Given the description of an element on the screen output the (x, y) to click on. 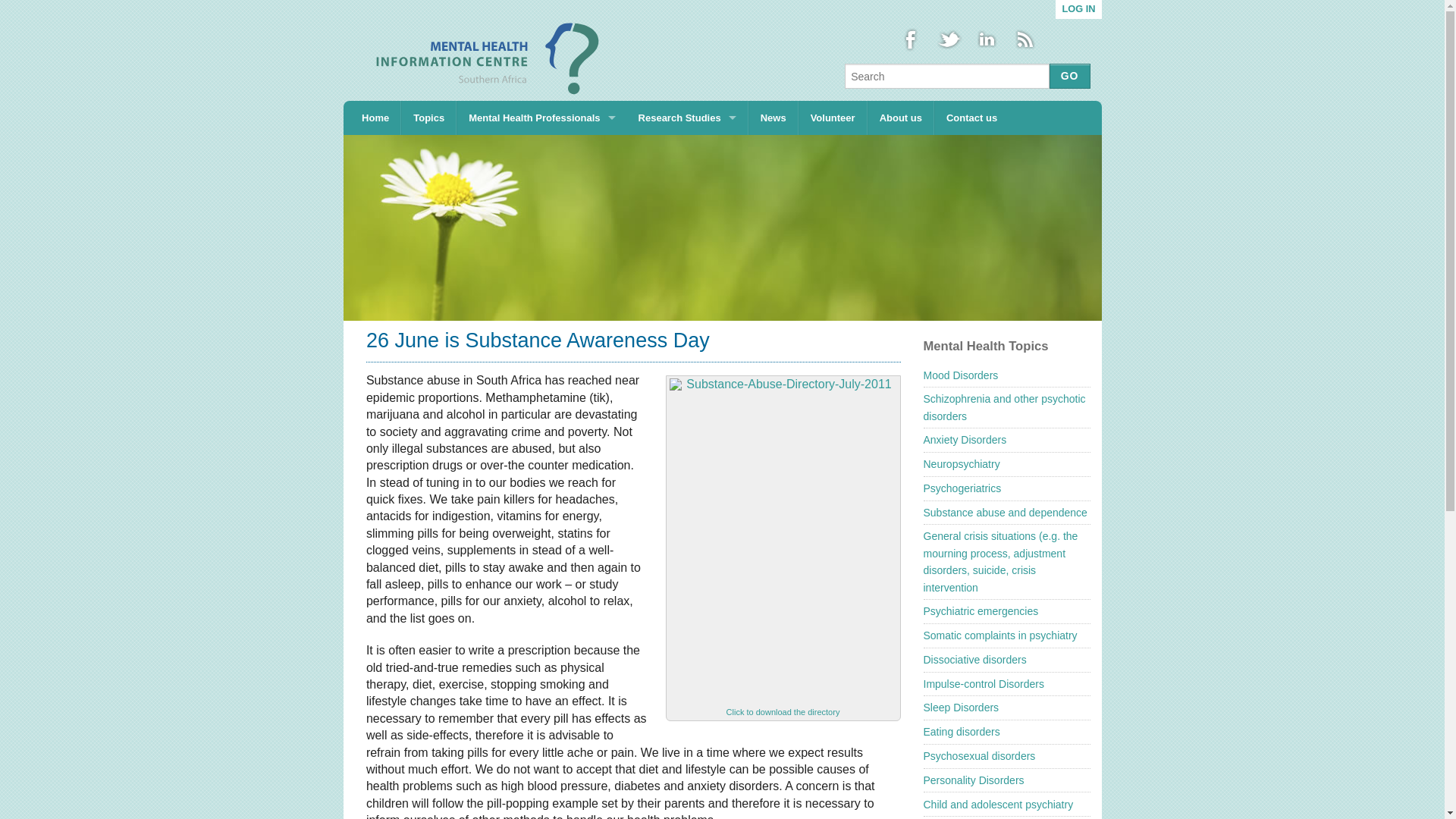
Follow Mental Health Information Centre on twitter (949, 39)
Neuropsychiatry (961, 463)
twitter (949, 39)
Research Studies (687, 117)
LOG IN (1077, 8)
Facebook (910, 39)
Mental Health Professionals (541, 117)
Volunteer (832, 117)
Schizophrenia and other psychotic disorders (1004, 407)
Join Mental Health Information Centre on Facebook (910, 39)
Anxiety Disorders (965, 439)
Psychogeriatrics (962, 488)
GO (1069, 75)
About us (900, 117)
Follow Mental Health Information Centre on RSS (1024, 39)
